Given the description of an element on the screen output the (x, y) to click on. 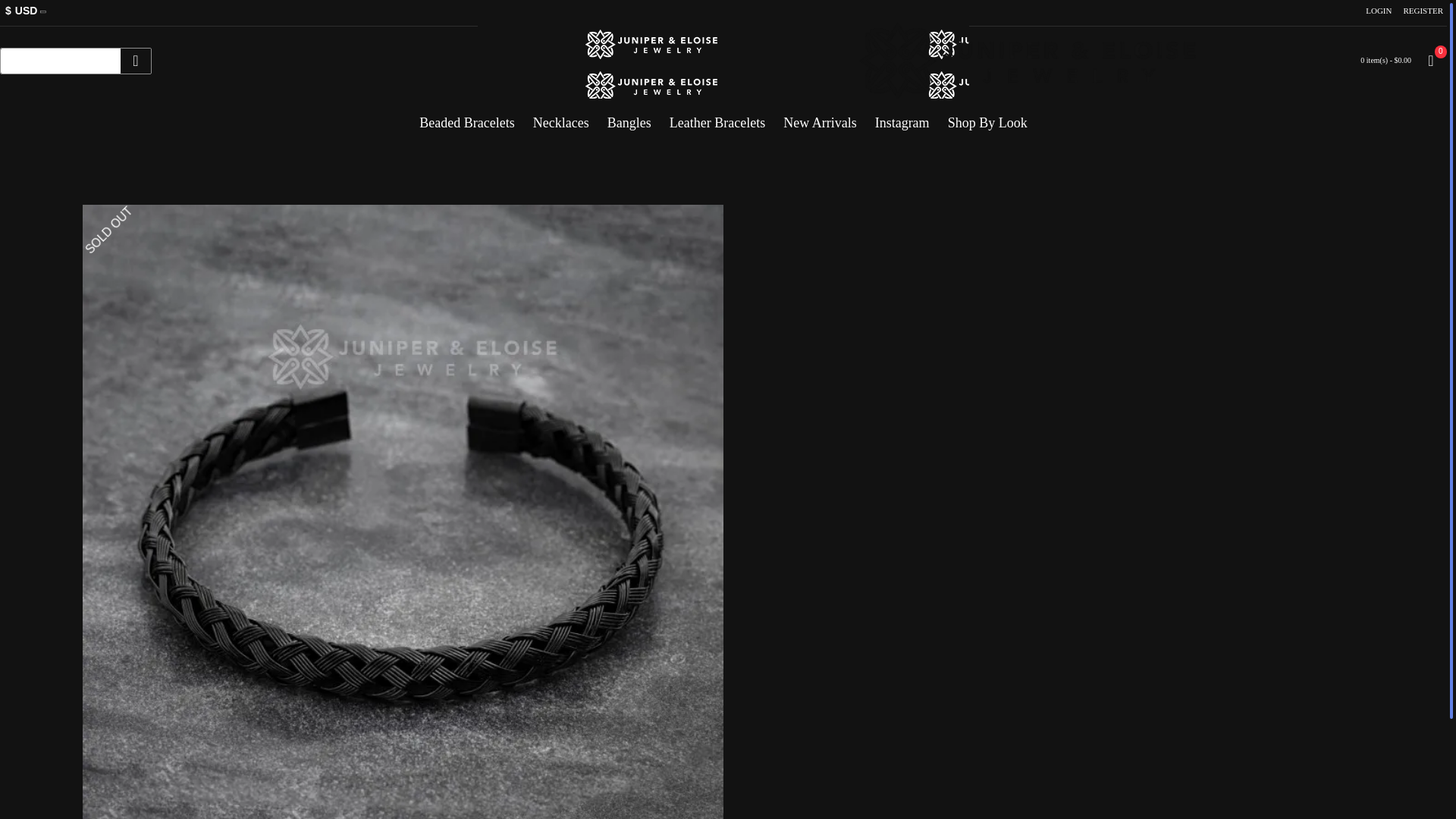
REGISTER (1423, 11)
Shop By Look (987, 117)
New Arrivals (819, 117)
Beaded Bracelets (466, 117)
Necklaces (561, 117)
Leather Bracelets (717, 117)
Bangles (629, 117)
LOGIN (1377, 11)
Instagram (902, 117)
